Given the description of an element on the screen output the (x, y) to click on. 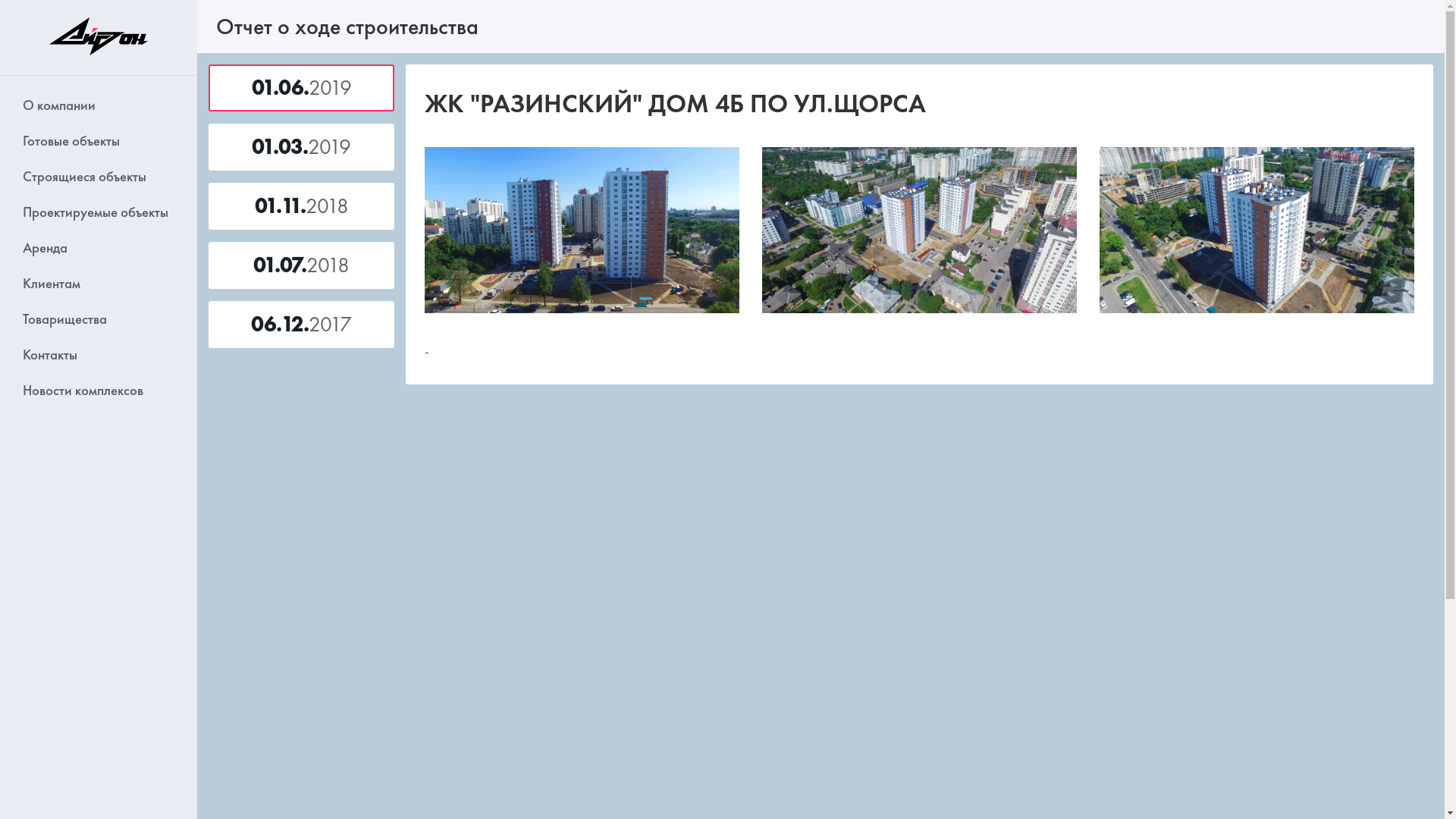
06.12.2017 Element type: text (301, 324)
01.06.2019 Element type: text (301, 87)
01.11.2018 Element type: text (301, 205)
01.07.2018 Element type: text (301, 264)
01.03.2019 Element type: text (301, 146)
